Given the description of an element on the screen output the (x, y) to click on. 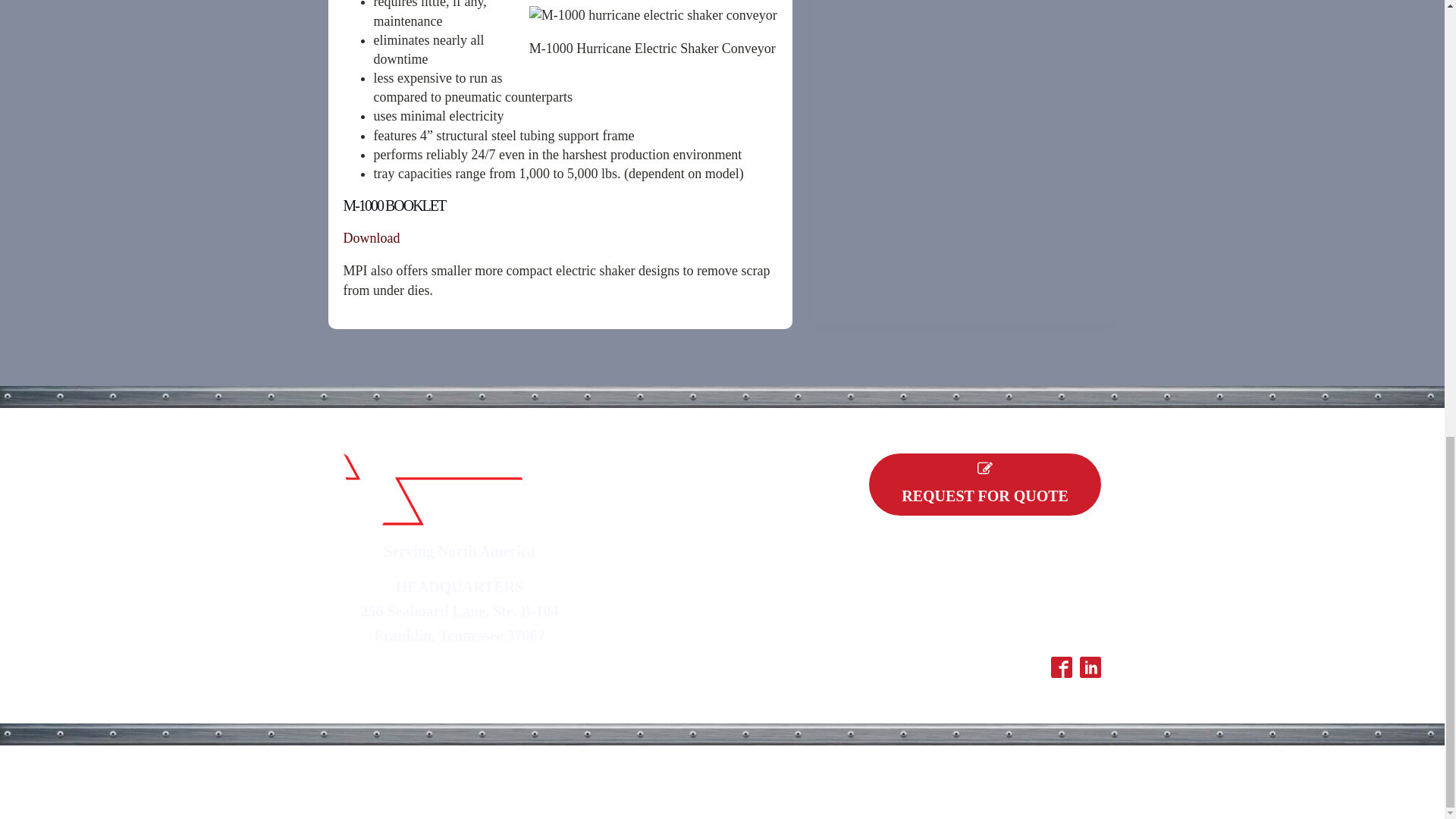
M-1000 hurricane electric shaker conveyor (653, 15)
